Given the description of an element on the screen output the (x, y) to click on. 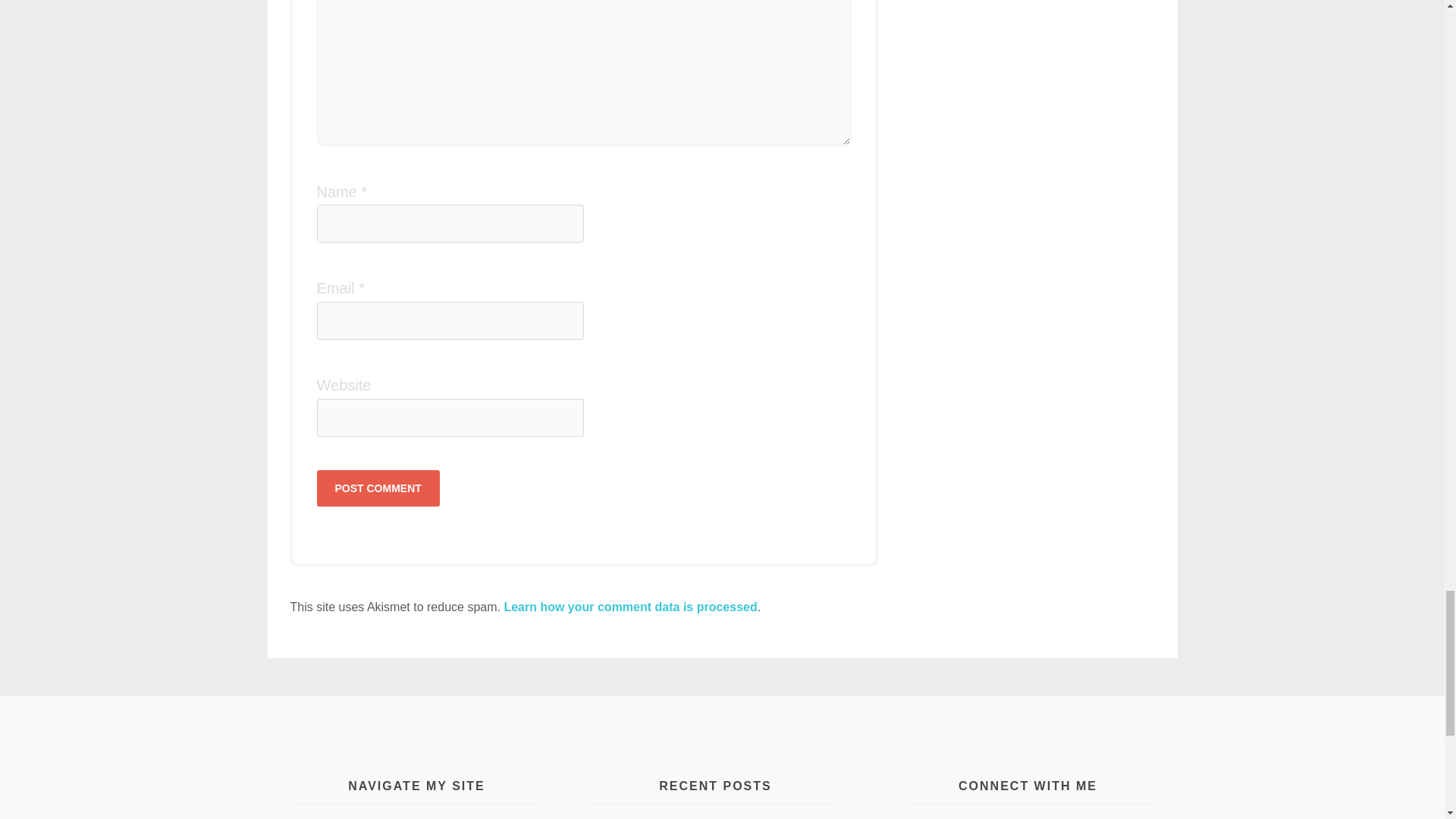
Post Comment (378, 488)
